Given the description of an element on the screen output the (x, y) to click on. 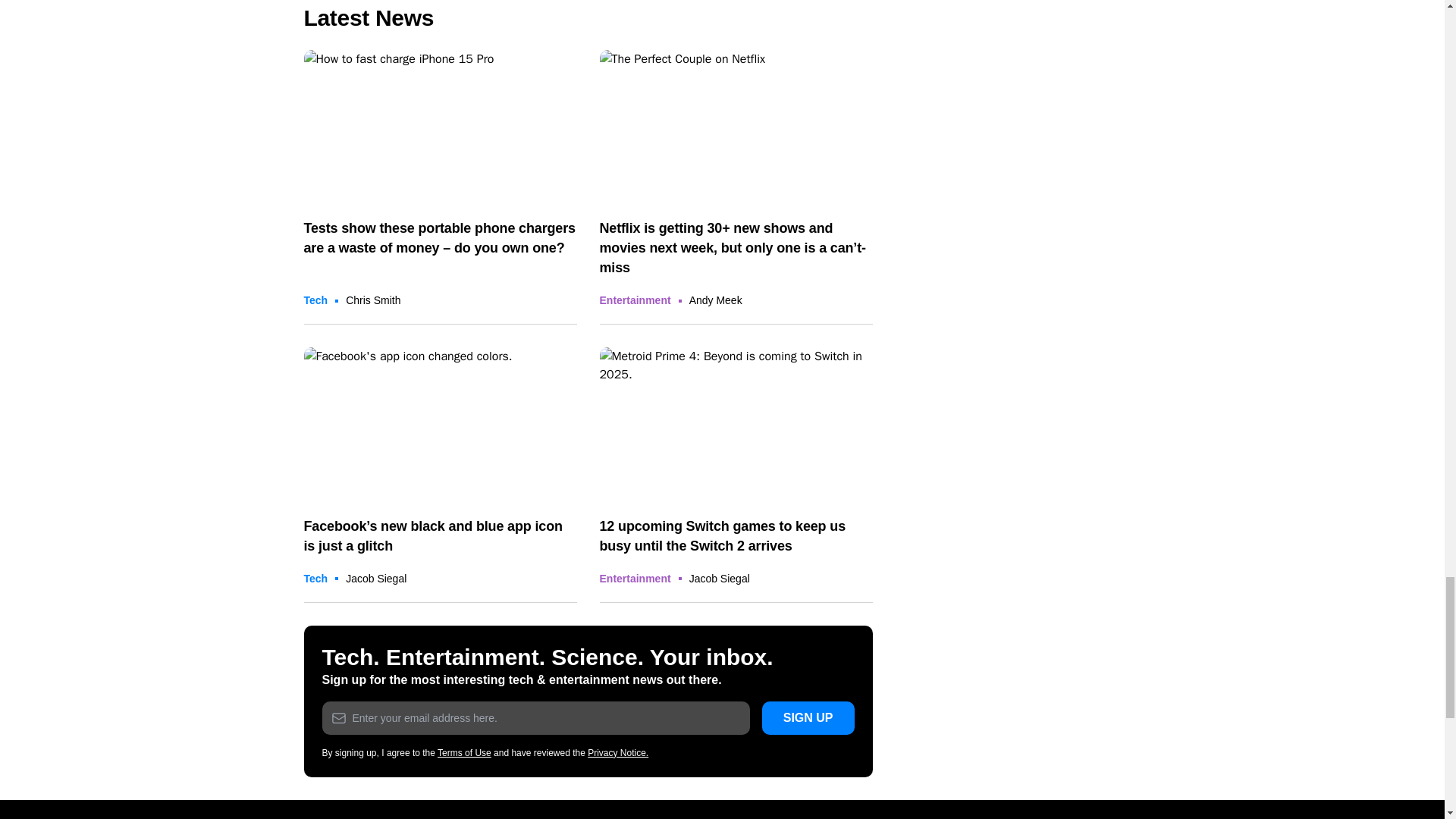
Posts by Andy Meek (715, 300)
Posts by Chris Smith (373, 300)
Posts by Jacob Siegal (376, 578)
Switch games (735, 424)
Netflix (735, 126)
Portable Phone Chargers (439, 126)
Facebook icon (439, 424)
